Given the description of an element on the screen output the (x, y) to click on. 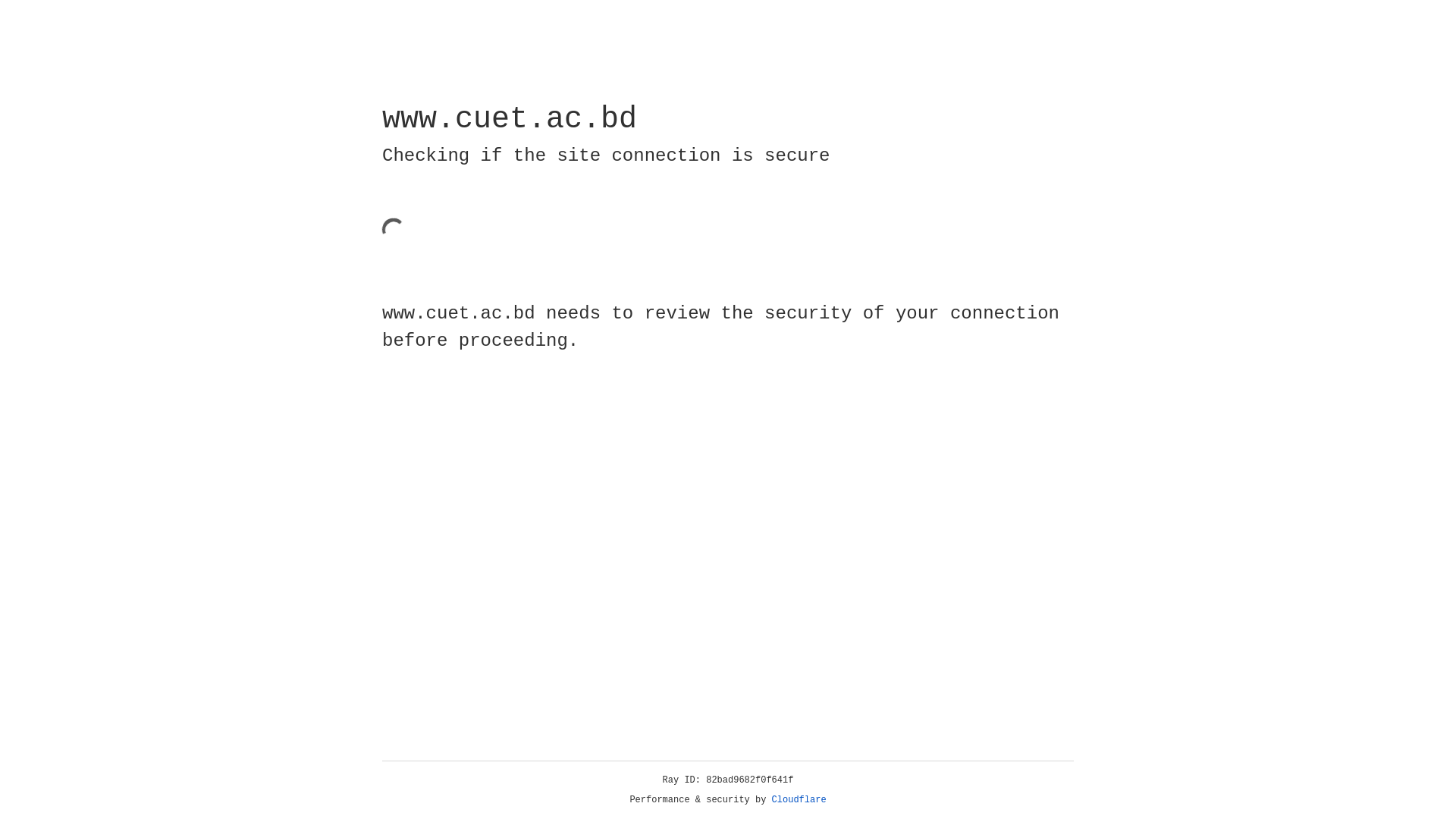
Cloudflare Element type: text (798, 799)
